Given the description of an element on the screen output the (x, y) to click on. 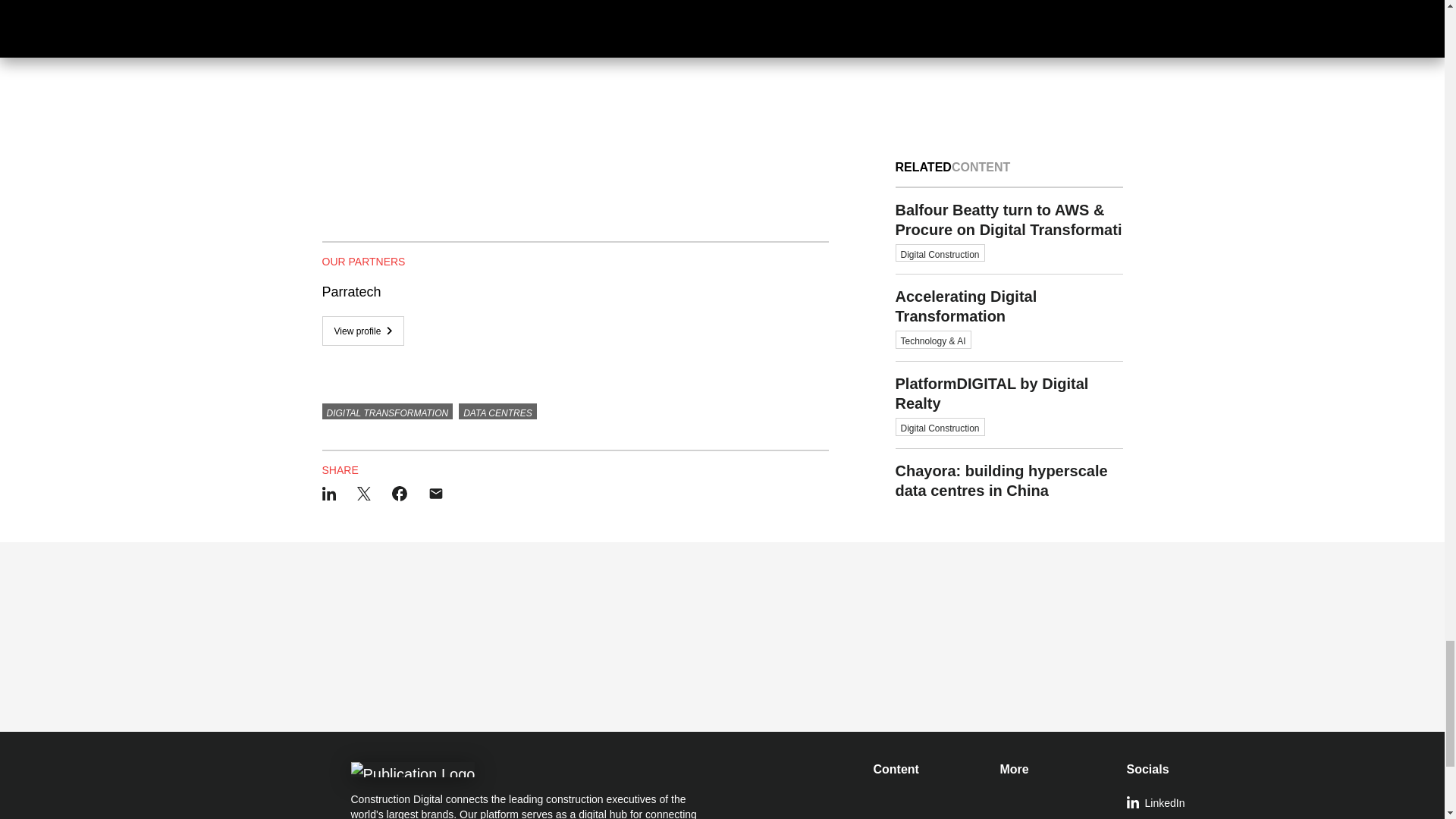
DATA CENTRES (496, 411)
View profile (362, 330)
LinkedIn (1182, 803)
DIGITAL TRANSFORMATION (386, 411)
